Given the description of an element on the screen output the (x, y) to click on. 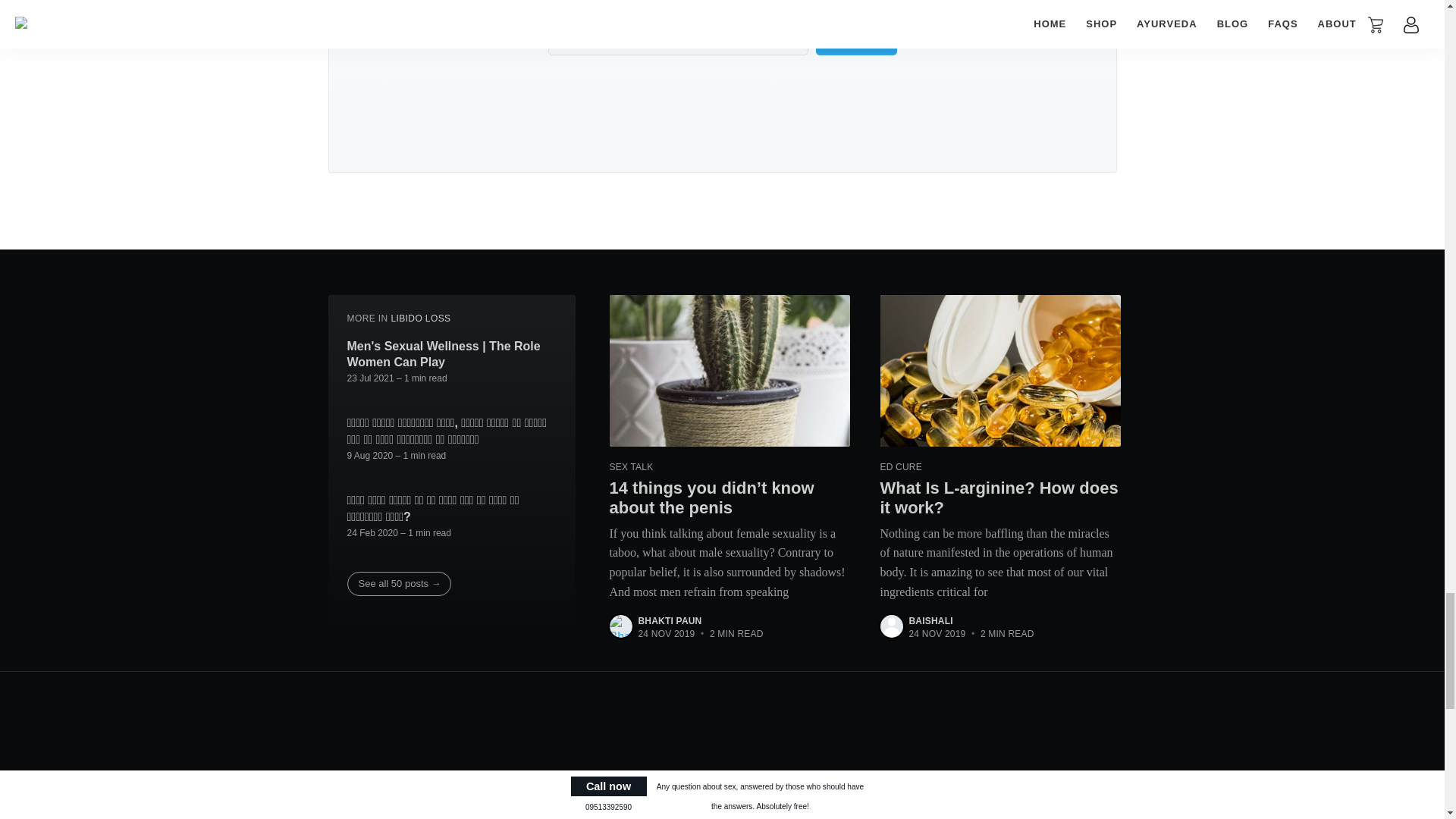
Subscribe (855, 38)
BAISHALI (930, 620)
LIBIDO LOSS (419, 317)
BHAKTI PAUN (670, 620)
